Given the description of an element on the screen output the (x, y) to click on. 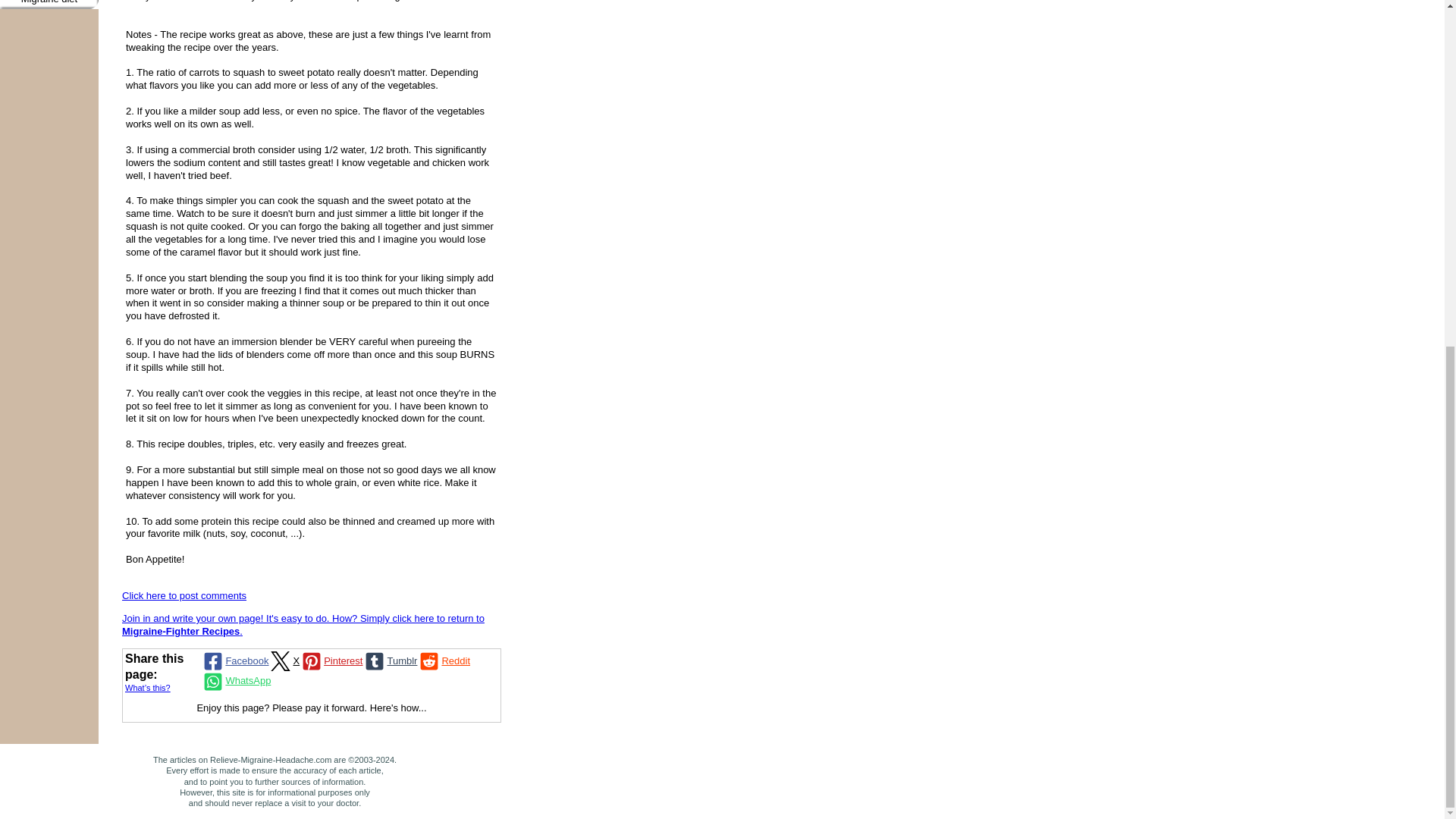
Reddit (443, 661)
Migraine diet (49, 4)
X (283, 661)
Pinterest (330, 661)
Tumblr (389, 661)
Click here to post comments (184, 595)
WhatsApp (235, 680)
Facebook (233, 661)
